Given the description of an element on the screen output the (x, y) to click on. 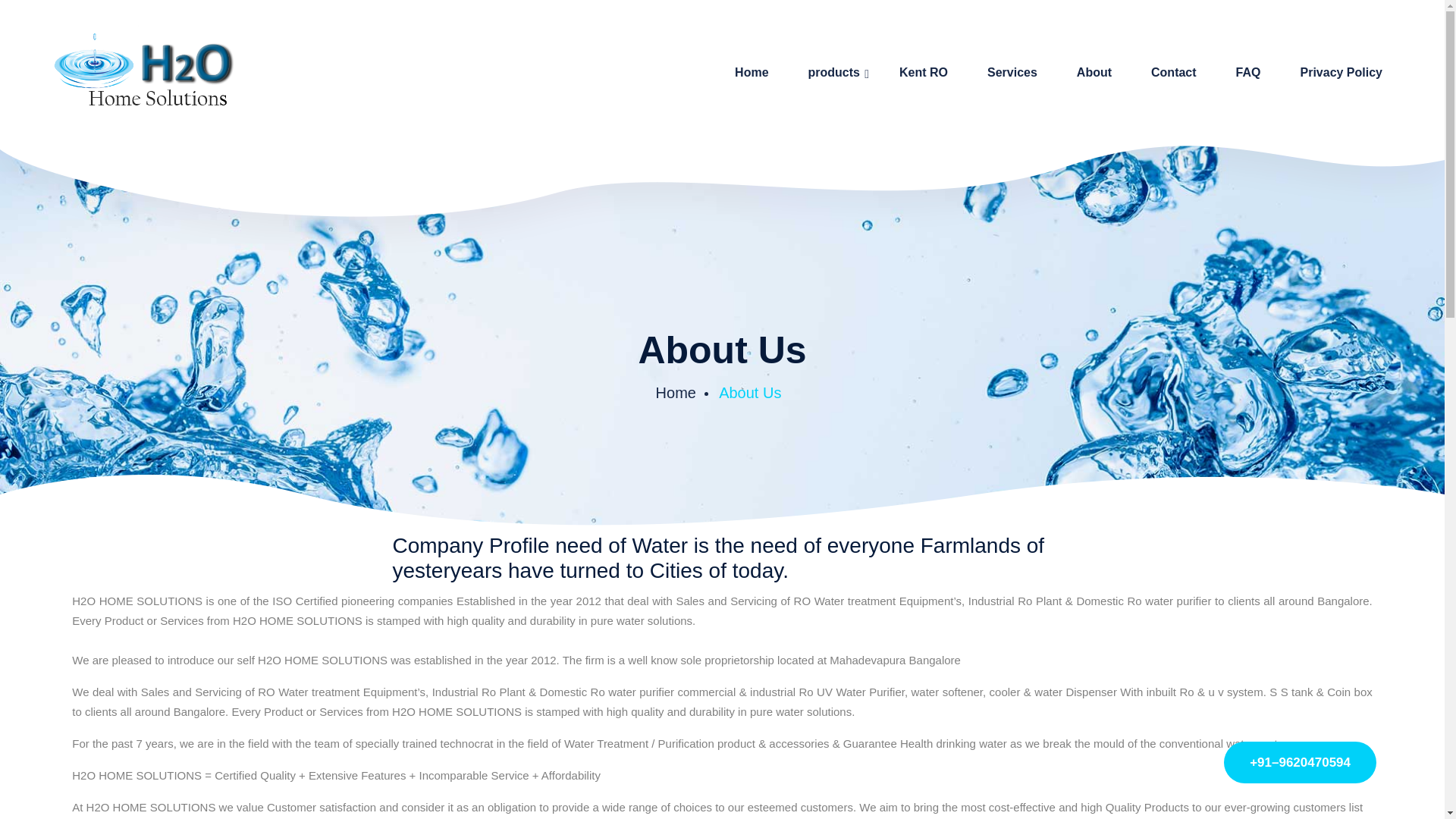
Privacy Policy (1345, 72)
